Given the description of an element on the screen output the (x, y) to click on. 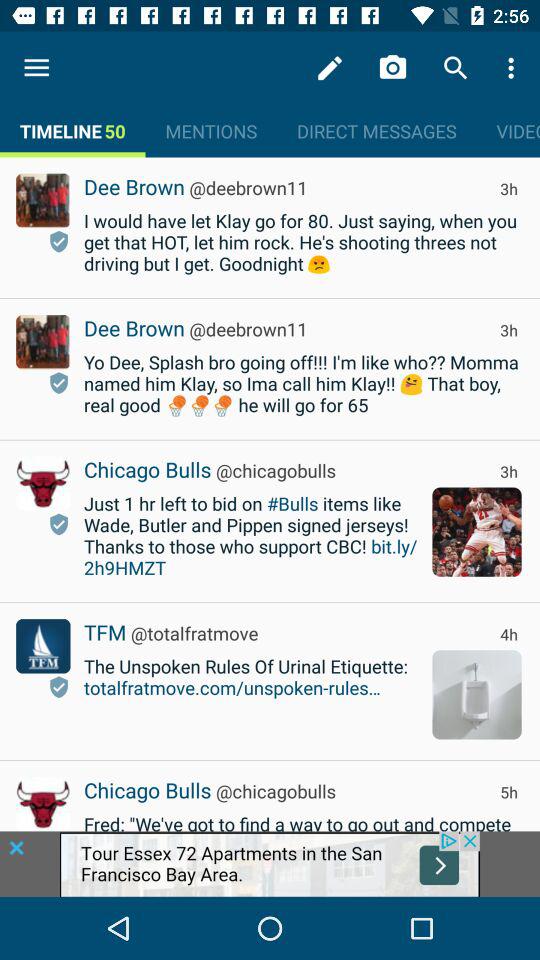
icon below tfm icon (58, 686)
